Given the description of an element on the screen output the (x, y) to click on. 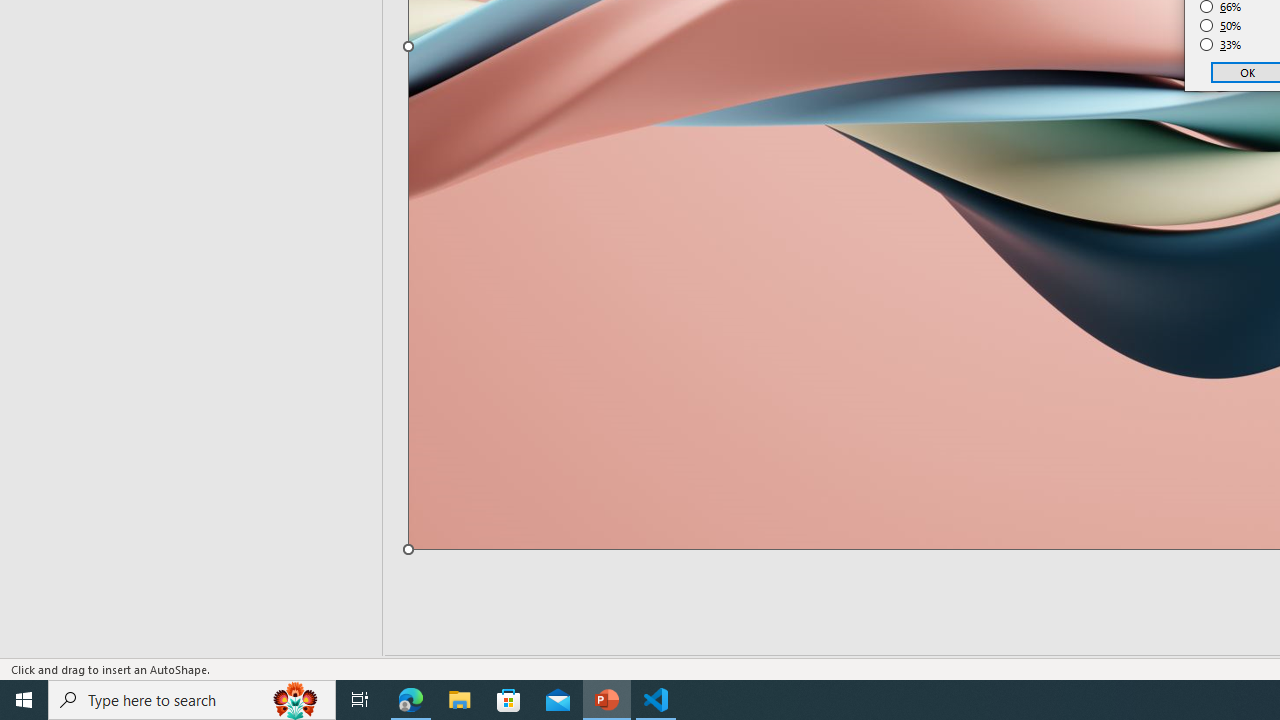
50% (1221, 25)
33% (1221, 44)
